Given the description of an element on the screen output the (x, y) to click on. 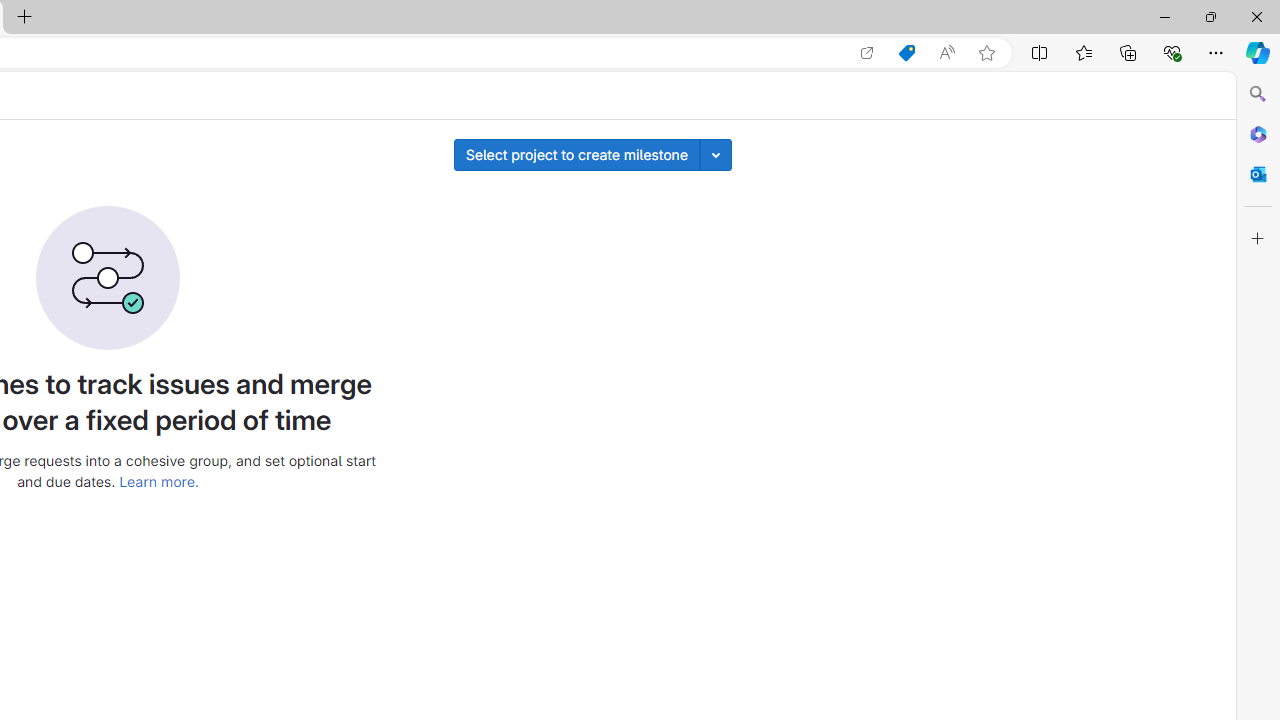
Search (1258, 94)
Open in app (867, 53)
